Given the description of an element on the screen output the (x, y) to click on. 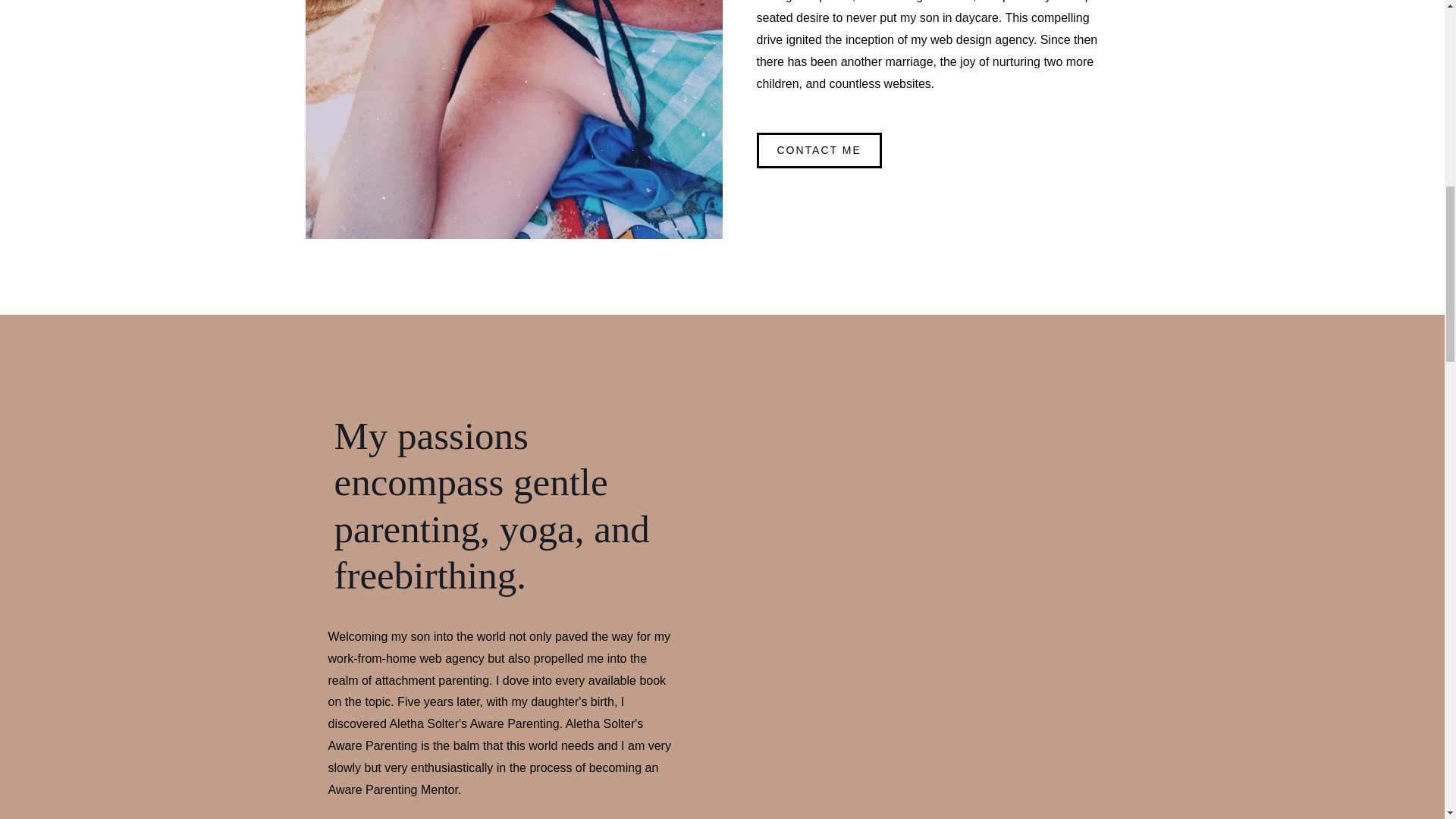
CONTACT ME (819, 150)
